Given the description of an element on the screen output the (x, y) to click on. 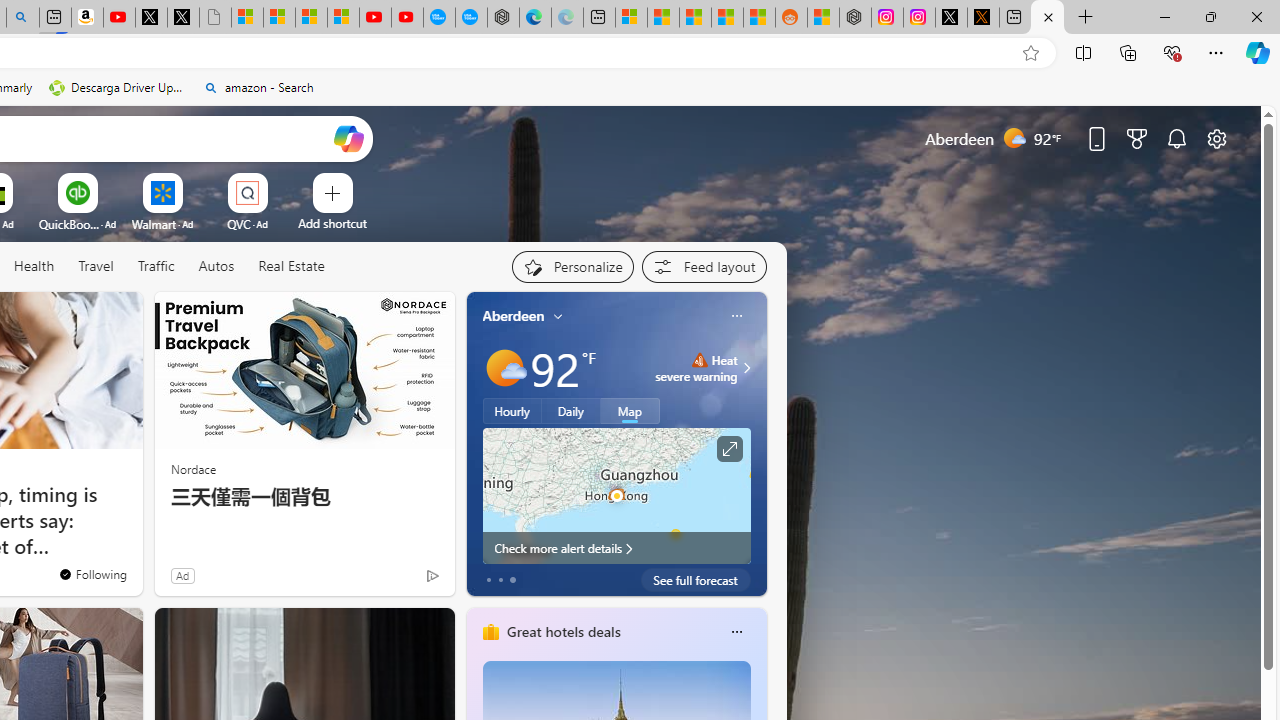
Daily (571, 411)
tab-0 (488, 579)
X (182, 17)
amazon - Search (258, 88)
Mostly sunny (504, 368)
hotels-header-icon (490, 632)
Class: icon-img (736, 632)
Click to see more information (728, 449)
